Given the description of an element on the screen output the (x, y) to click on. 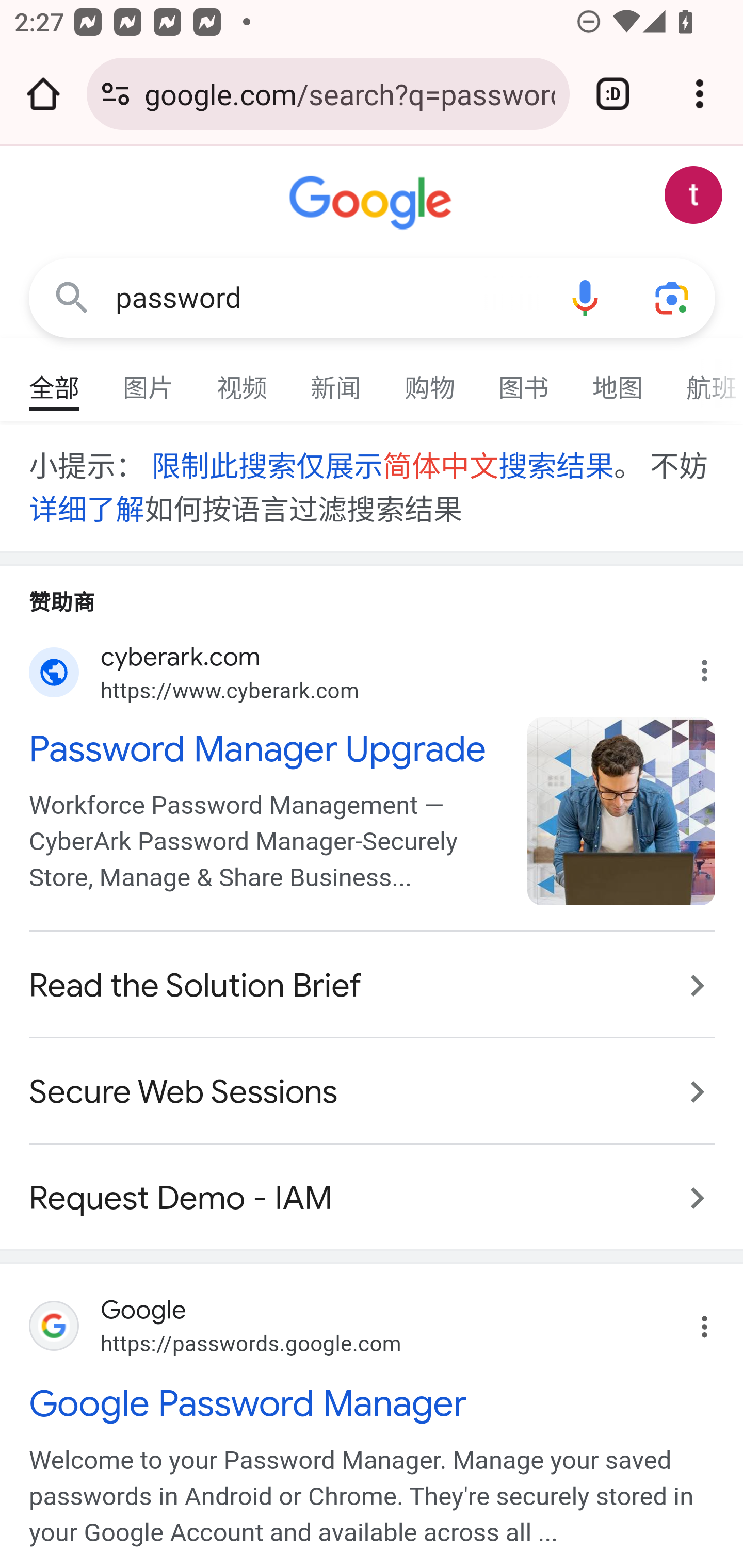
Open the home page (43, 93)
Connection is secure (115, 93)
Switch or close tabs (612, 93)
Customize and control Google Chrome (699, 93)
Google (372, 203)
Google 账号： test appium (testappium002@gmail.com) (694, 195)
Google 搜索 (71, 296)
使用拍照功能或照片进行搜索 (672, 296)
password (328, 297)
图片 (148, 378)
视频 (242, 378)
新闻 (336, 378)
购物 (430, 378)
图书 (524, 378)
地图 (618, 378)
航班 (703, 378)
限制此搜索仅展示简体中文搜索结果 限制此搜索仅展示 简体中文 搜索结果 (381, 467)
详细了解 (86, 509)
为什么会显示该广告？ (714, 665)
图片来自 cyberark.com (621, 811)
Password Manager Upgrade (266, 749)
Read the Solution Brief (372, 985)
Secure Web Sessions (372, 1092)
Request Demo - IAM (372, 1187)
Google Password Manager (372, 1402)
